Given the description of an element on the screen output the (x, y) to click on. 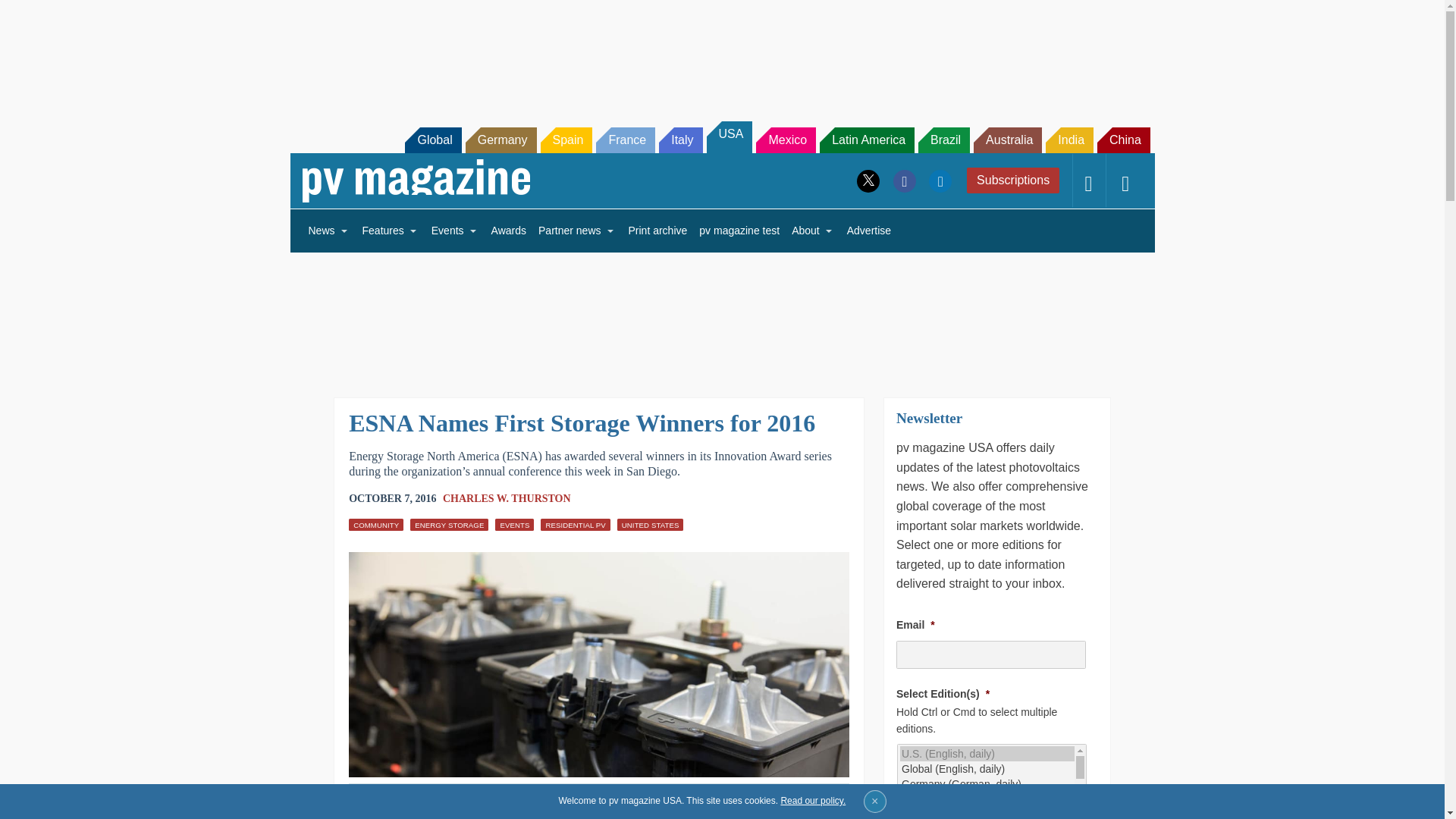
Subscriptions (1012, 180)
Germany (501, 140)
pv magazine - Photovoltaics Markets and Technology (415, 180)
3rd party ad content (1199, 707)
Mexico (785, 140)
France (625, 140)
USA (729, 137)
China (1123, 140)
Global (432, 140)
Posts by Charles W. Thurston (506, 498)
Italy (680, 140)
pv magazine - Photovoltaics Markets and Technology (415, 180)
Spain (566, 140)
3rd party ad content (721, 51)
Friday, October 7, 2016, 7:00 am (392, 498)
